Given the description of an element on the screen output the (x, y) to click on. 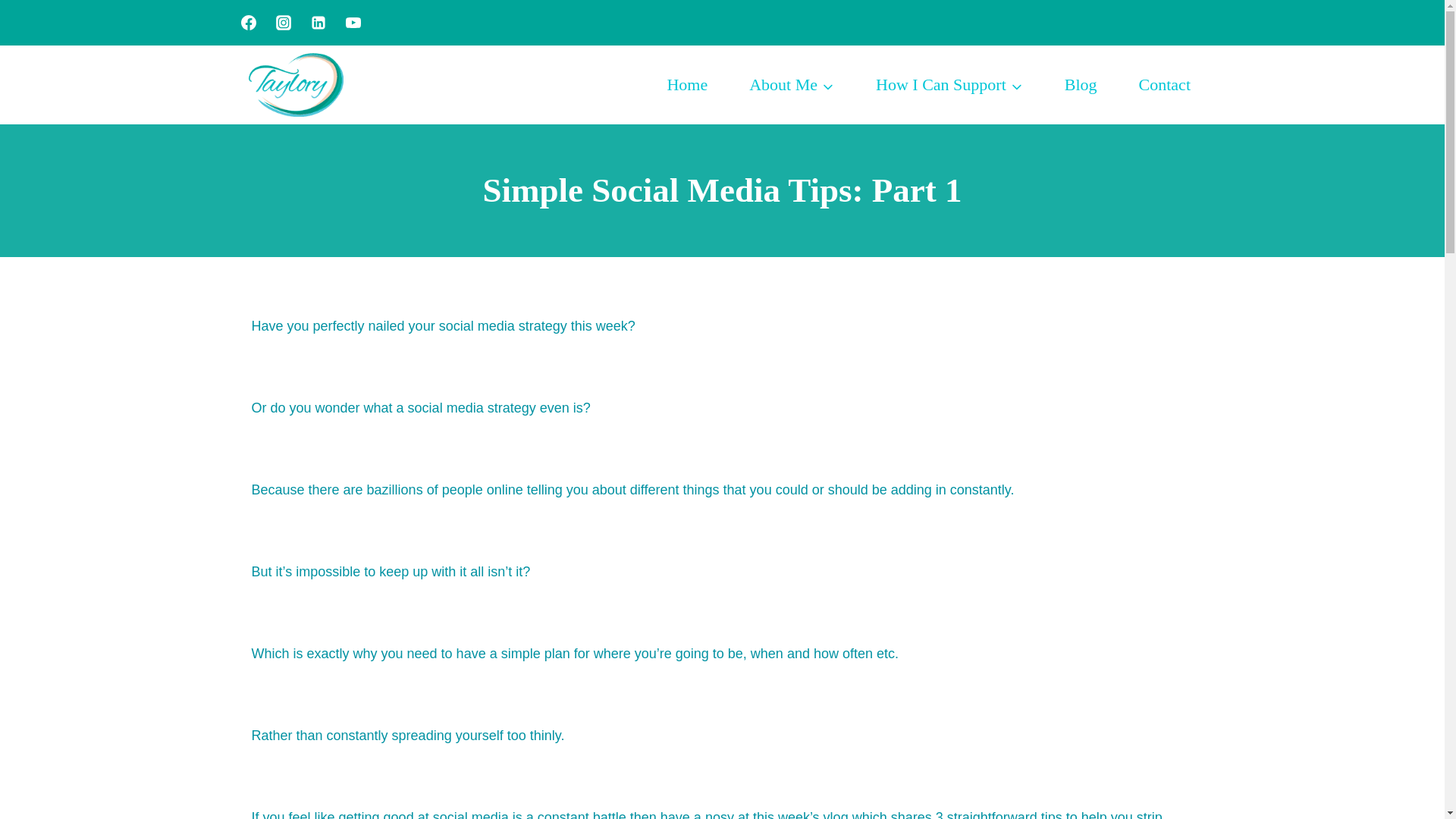
Contact (1164, 84)
Home (687, 84)
How I Can Support (949, 84)
Blog (1080, 84)
About Me (792, 84)
